Given the description of an element on the screen output the (x, y) to click on. 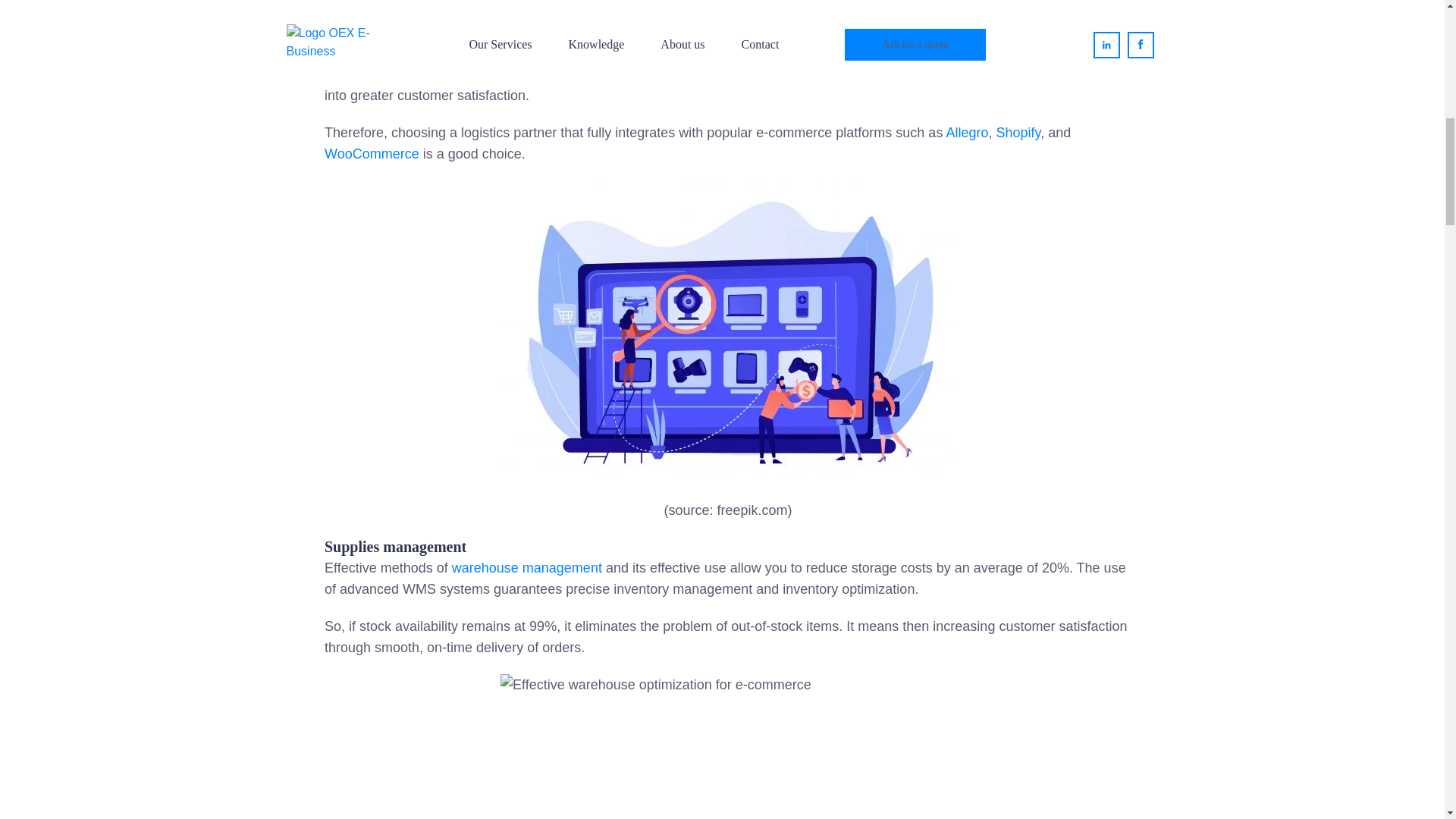
Allegro (966, 132)
Shopify (1018, 132)
WooCommerce (371, 153)
warehouse management (526, 567)
